Given the description of an element on the screen output the (x, y) to click on. 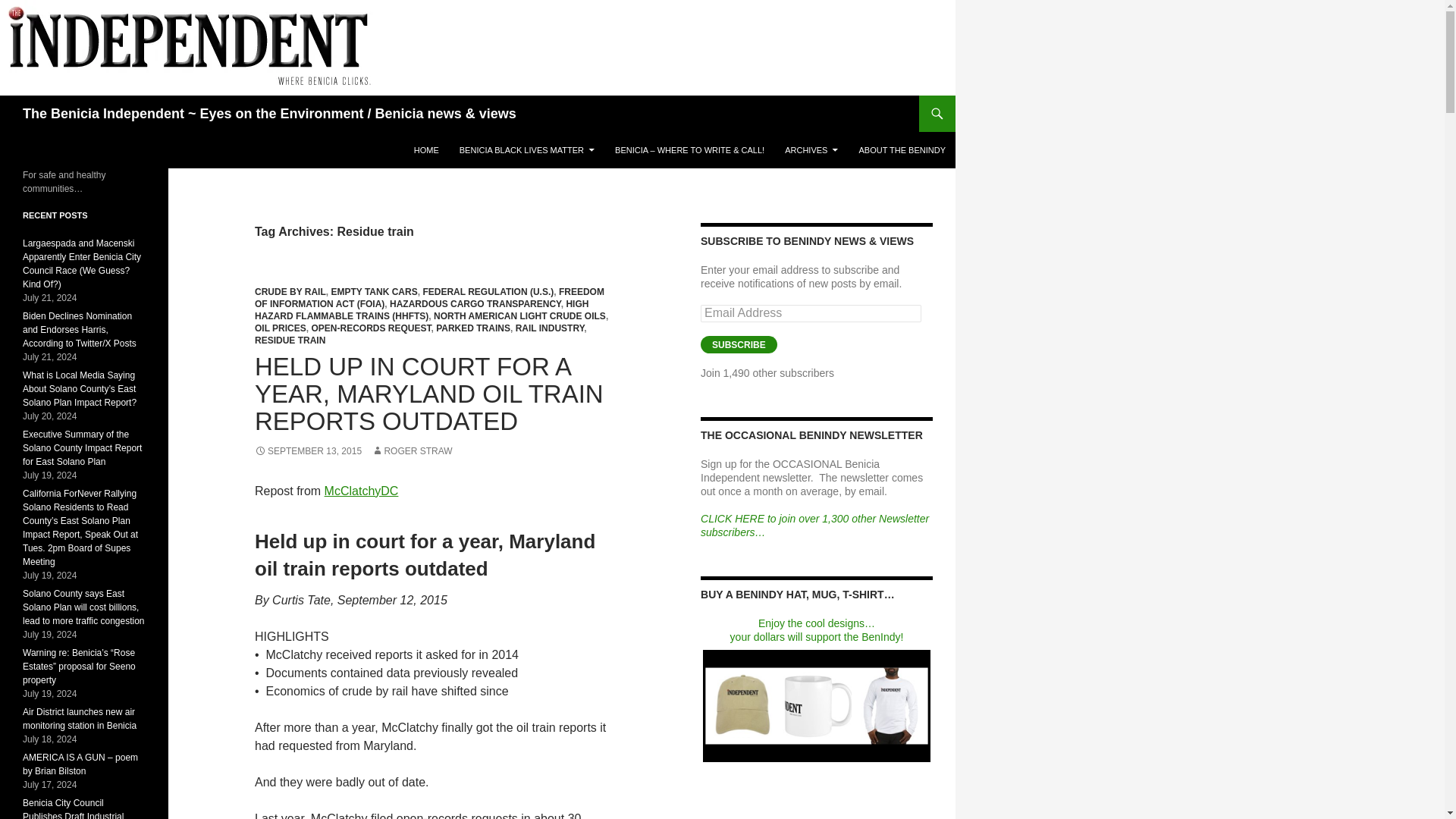
HOME (426, 149)
ARCHIVES (811, 149)
BENICIA BLACK LIVES MATTER (526, 149)
